Given the description of an element on the screen output the (x, y) to click on. 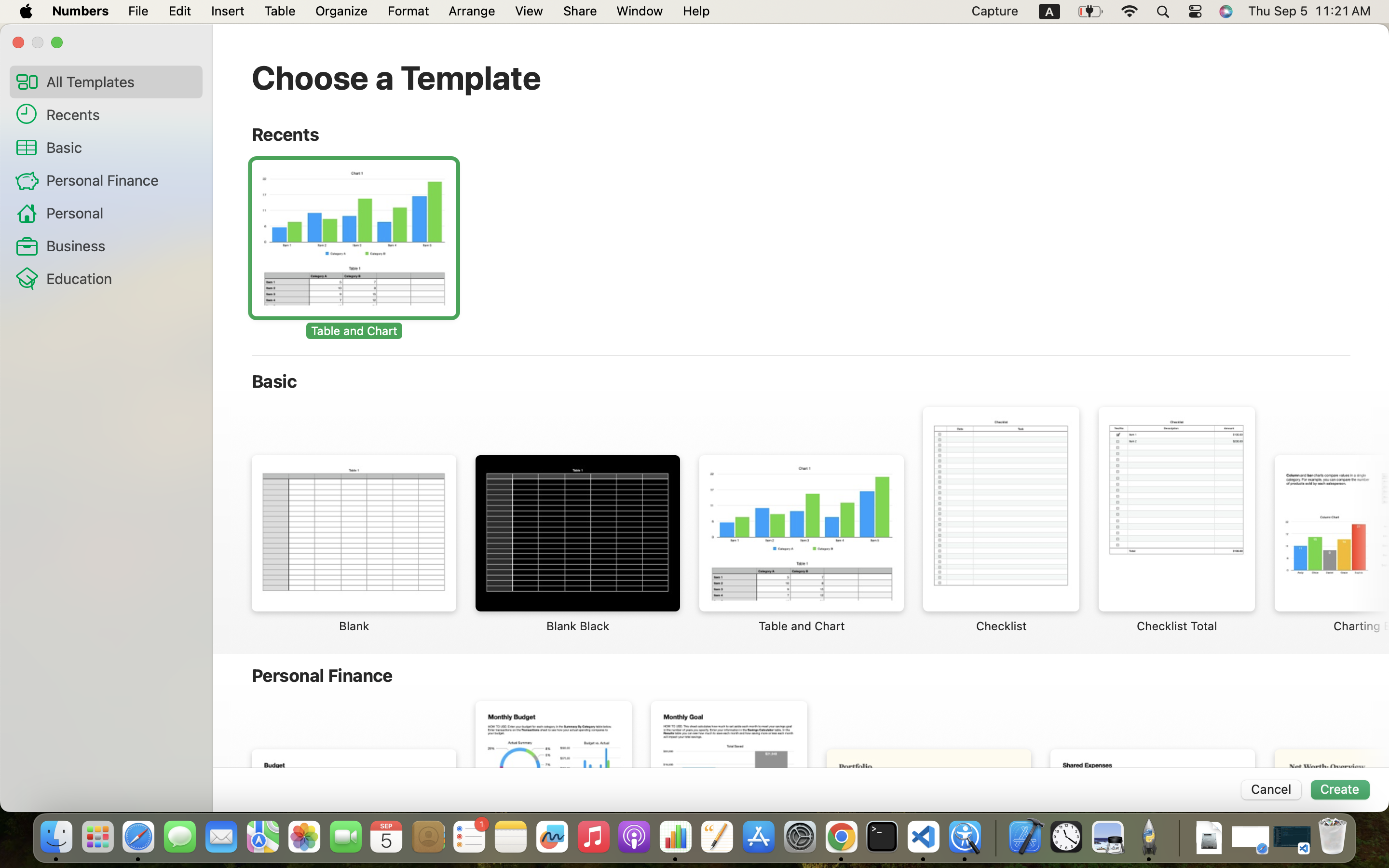
Education Element type: AXStaticText (120, 278)
Personal Element type: AXStaticText (120, 212)
Personal Finance Element type: AXStaticText (120, 179)
Business Element type: AXStaticText (120, 245)
